Given the description of an element on the screen output the (x, y) to click on. 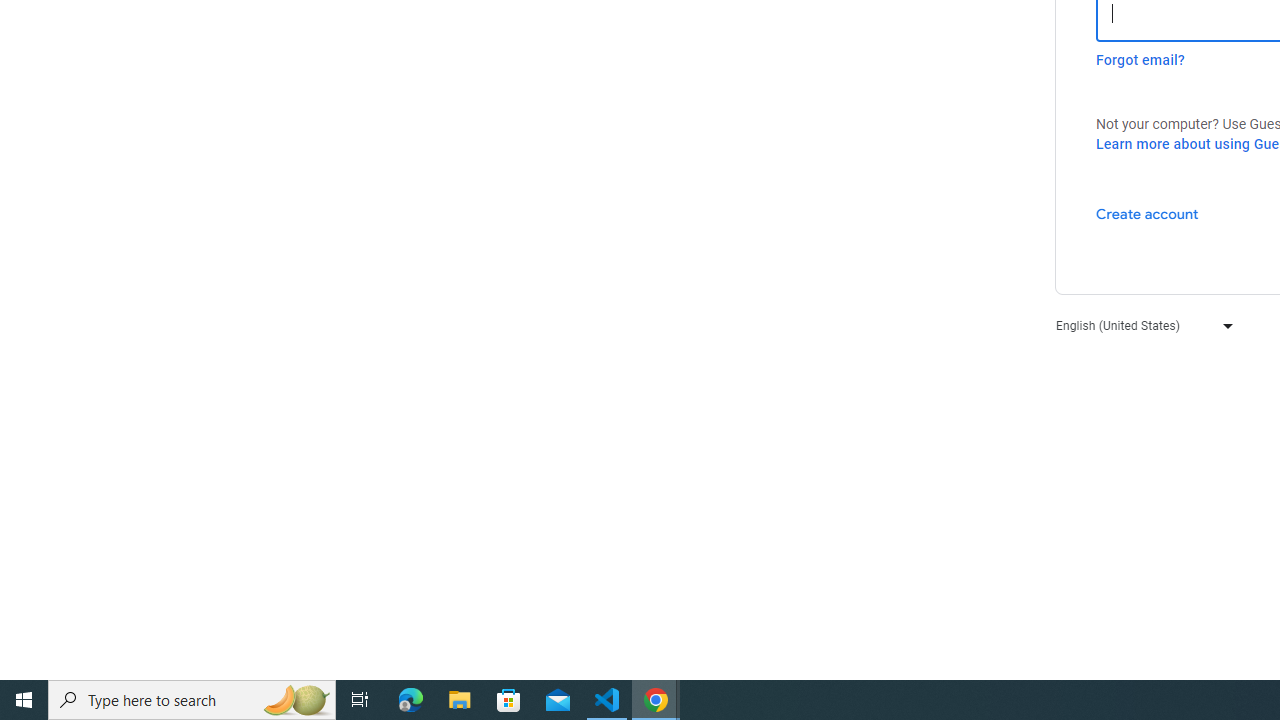
English (United States) (1139, 324)
Forgot email? (1140, 59)
Create account (1146, 213)
